Given the description of an element on the screen output the (x, y) to click on. 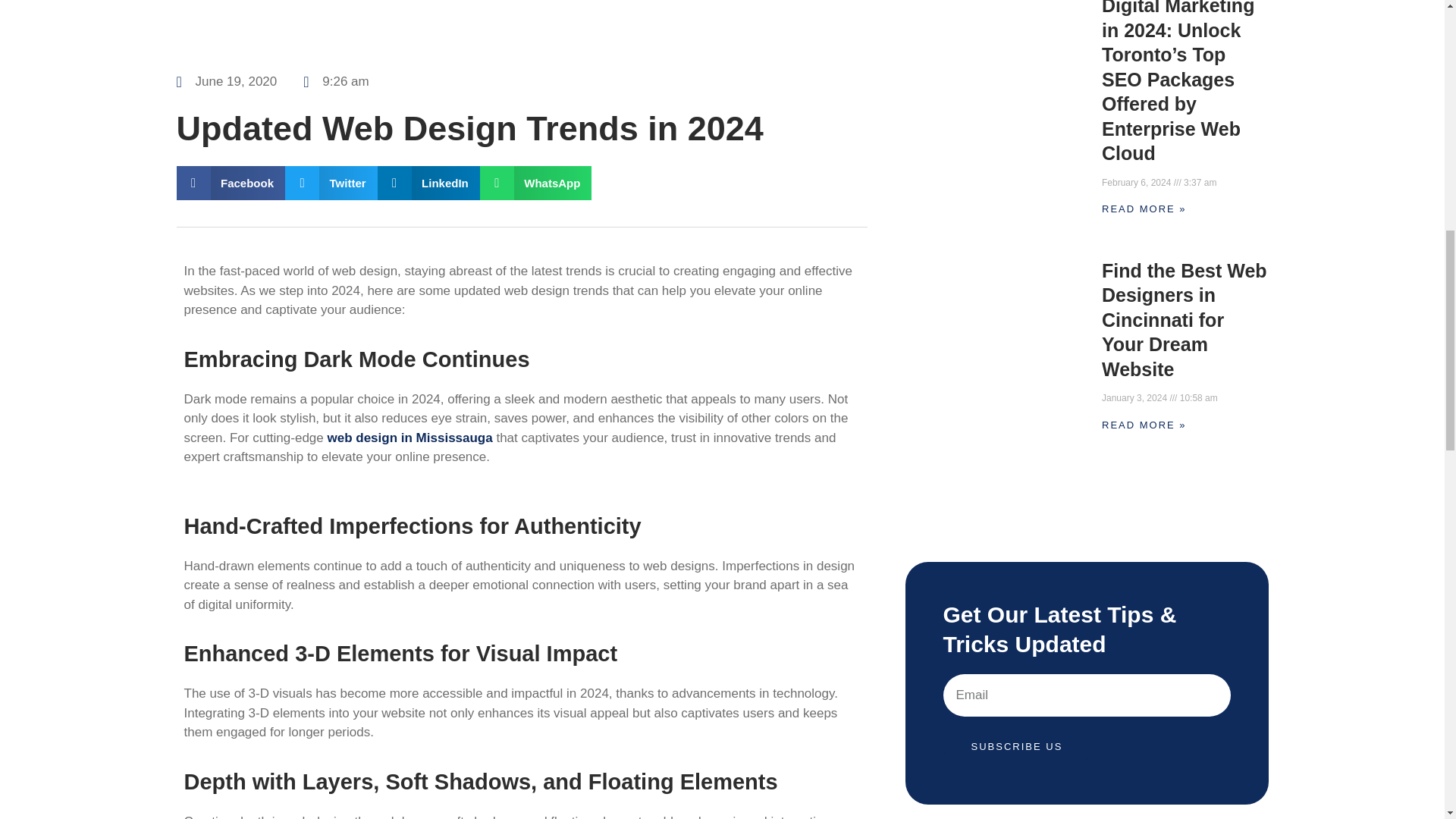
June 19, 2020 (226, 81)
web design in Mississauga (409, 437)
photo-1474377207190-a7d8b3334068 (521, 28)
